Given the description of an element on the screen output the (x, y) to click on. 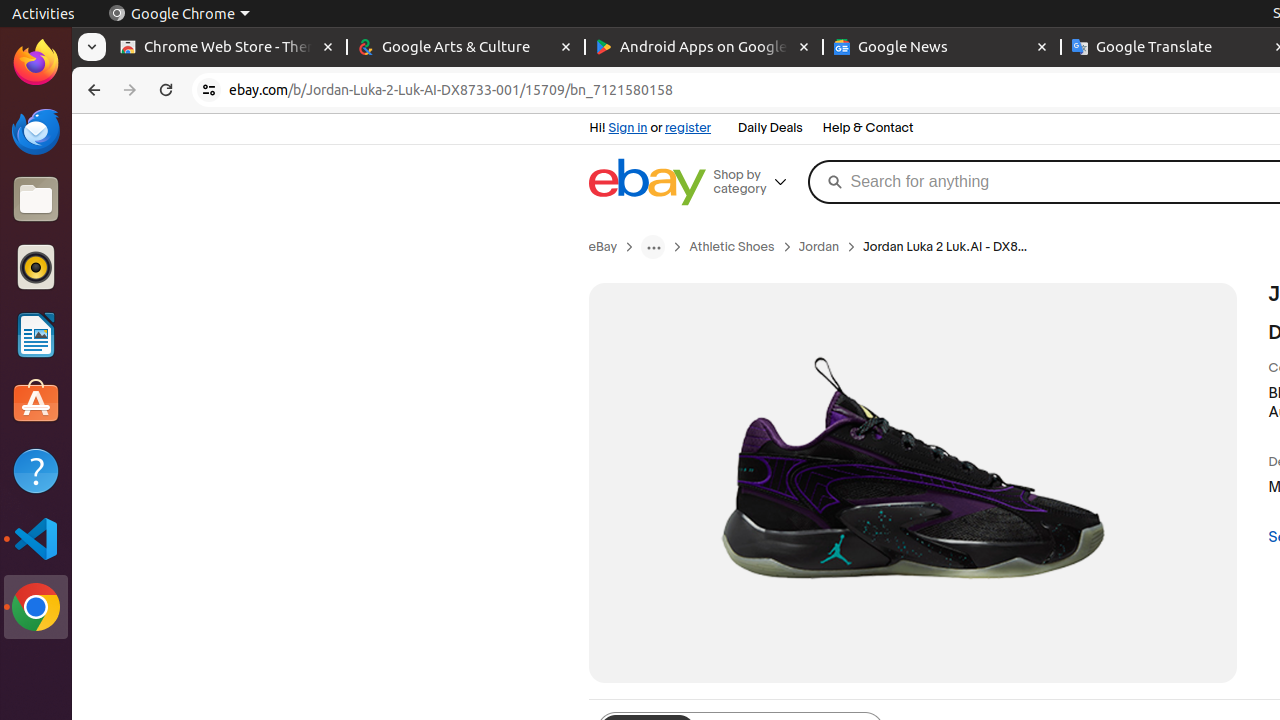
LibreOffice Writer Element type: push-button (36, 334)
Rhythmbox Element type: push-button (36, 267)
Reload Element type: push-button (166, 90)
Files Element type: push-button (36, 199)
Google Arts & Culture - Memory usage - 40.8 MB Element type: page-tab (466, 47)
